Given the description of an element on the screen output the (x, y) to click on. 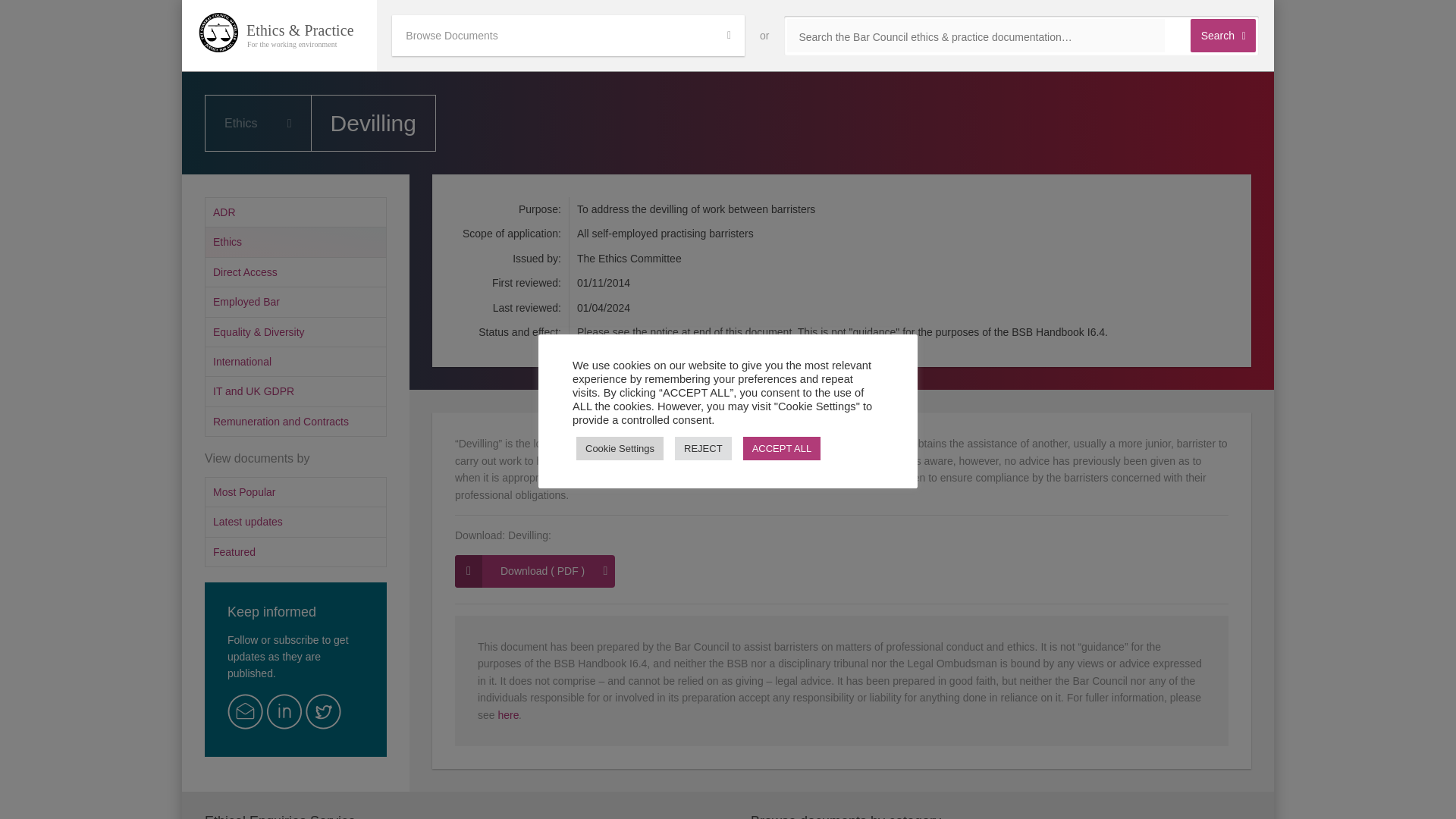
Bar Council - Ethics portal logo (279, 34)
Ethics (258, 122)
Browse Documents (567, 35)
Search (1223, 35)
here (507, 715)
ADR (296, 211)
Browse documents (567, 35)
Ethics (296, 241)
Direct Access (296, 271)
Employed Bar (296, 301)
